Given the description of an element on the screen output the (x, y) to click on. 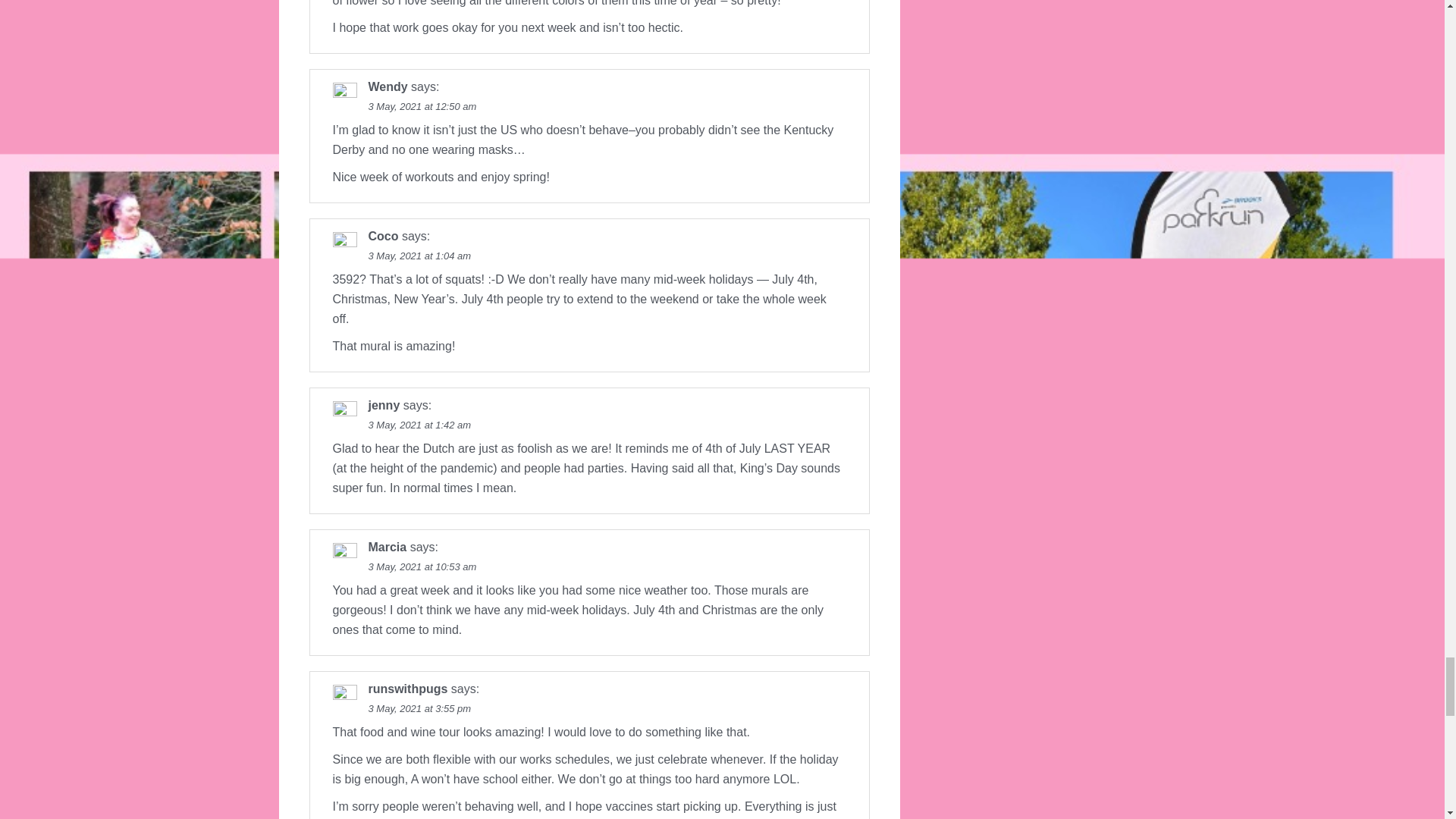
3 May, 2021 at 1:42 am (419, 424)
Coco (383, 236)
3 May, 2021 at 3:55 pm (419, 708)
jenny (384, 404)
runswithpugs (408, 688)
3 May, 2021 at 1:04 am (419, 255)
Wendy (387, 86)
3 May, 2021 at 12:50 am (422, 106)
Marcia (387, 546)
3 May, 2021 at 10:53 am (422, 566)
